Given the description of an element on the screen output the (x, y) to click on. 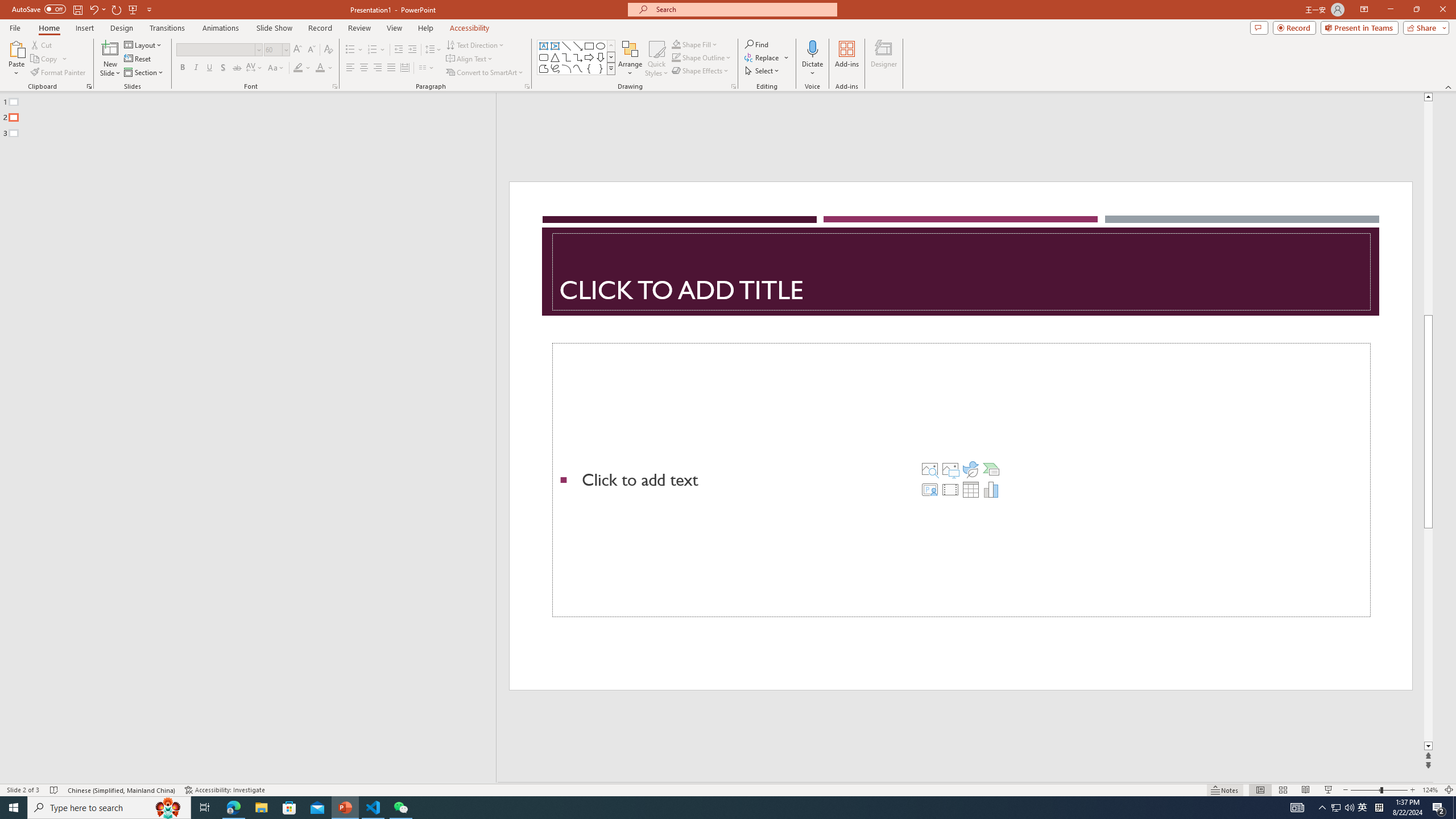
Stock Images (929, 469)
